Given the description of an element on the screen output the (x, y) to click on. 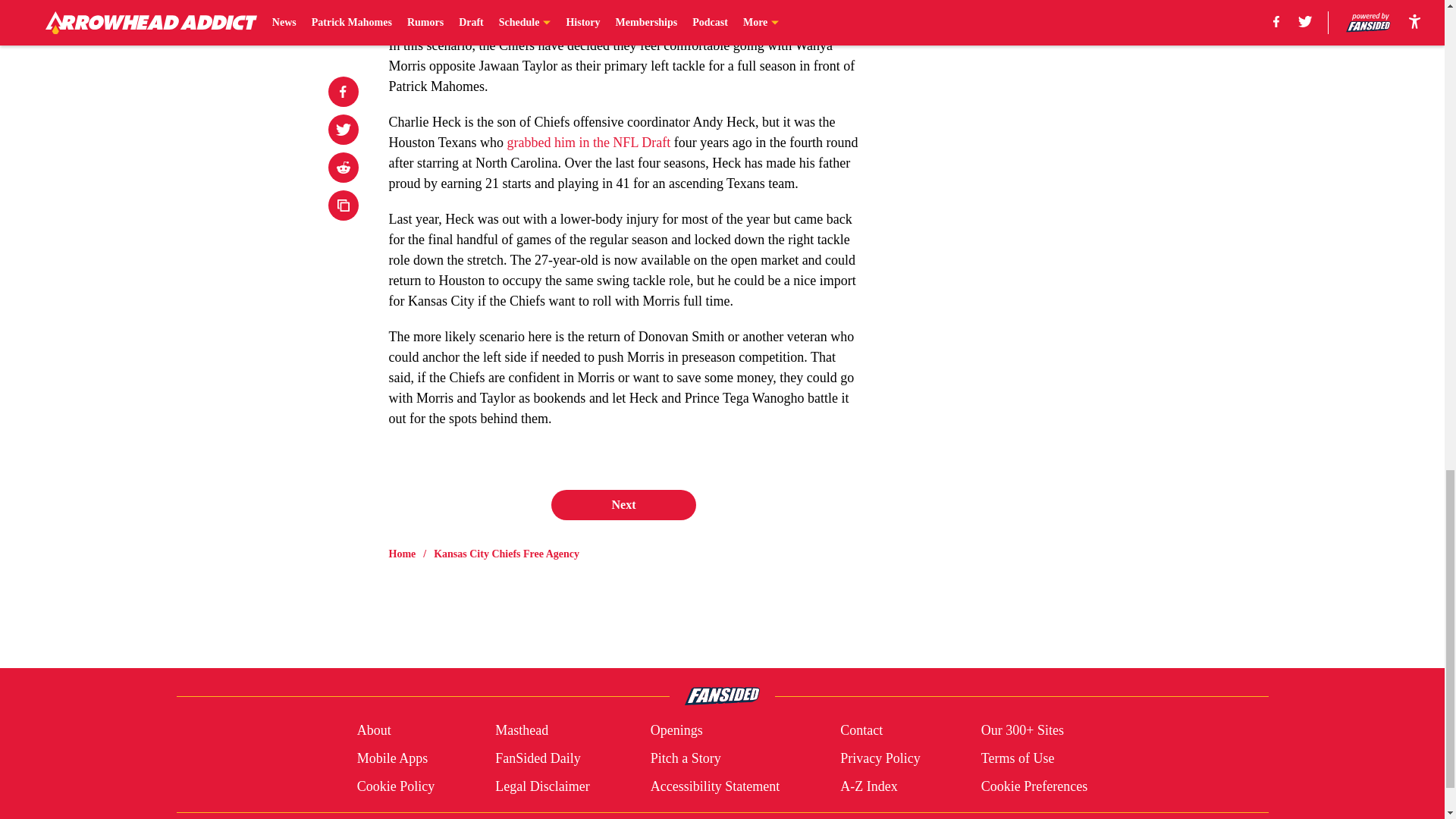
Contact (861, 730)
About (373, 730)
Home (401, 554)
Openings (676, 730)
Kansas City Chiefs Free Agency (506, 554)
Next (622, 504)
grabbed him in the NFL Draft (587, 142)
Masthead (521, 730)
